Given the description of an element on the screen output the (x, y) to click on. 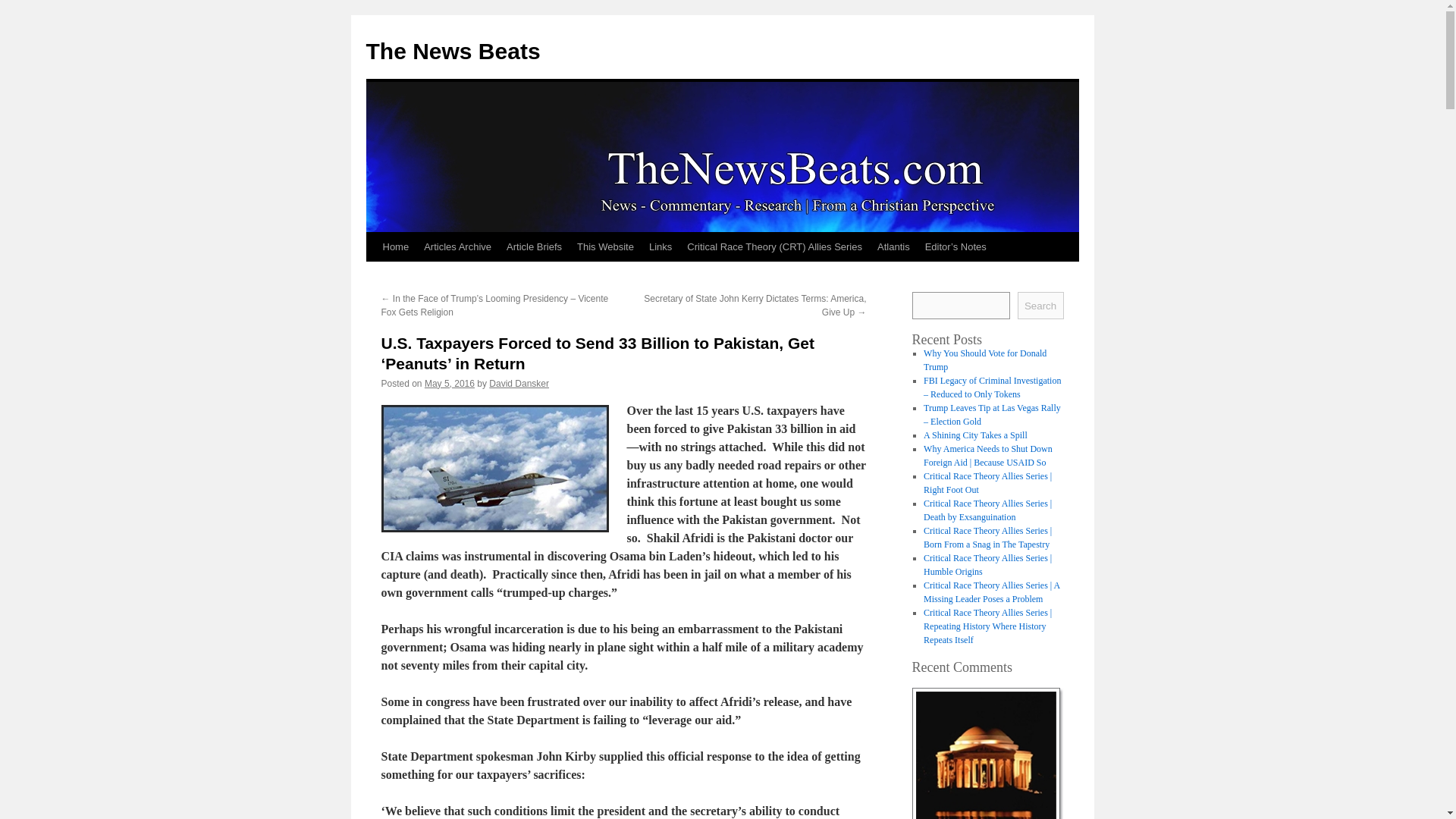
Why You Should Vote for Donald Trump (984, 360)
Articles Archive (457, 246)
The News Beats (452, 50)
Atlantis (893, 246)
Links (660, 246)
Home (395, 246)
Article Briefs (534, 246)
David Dansker (518, 383)
May 5, 2016 (449, 383)
3:00 am (449, 383)
